Given the description of an element on the screen output the (x, y) to click on. 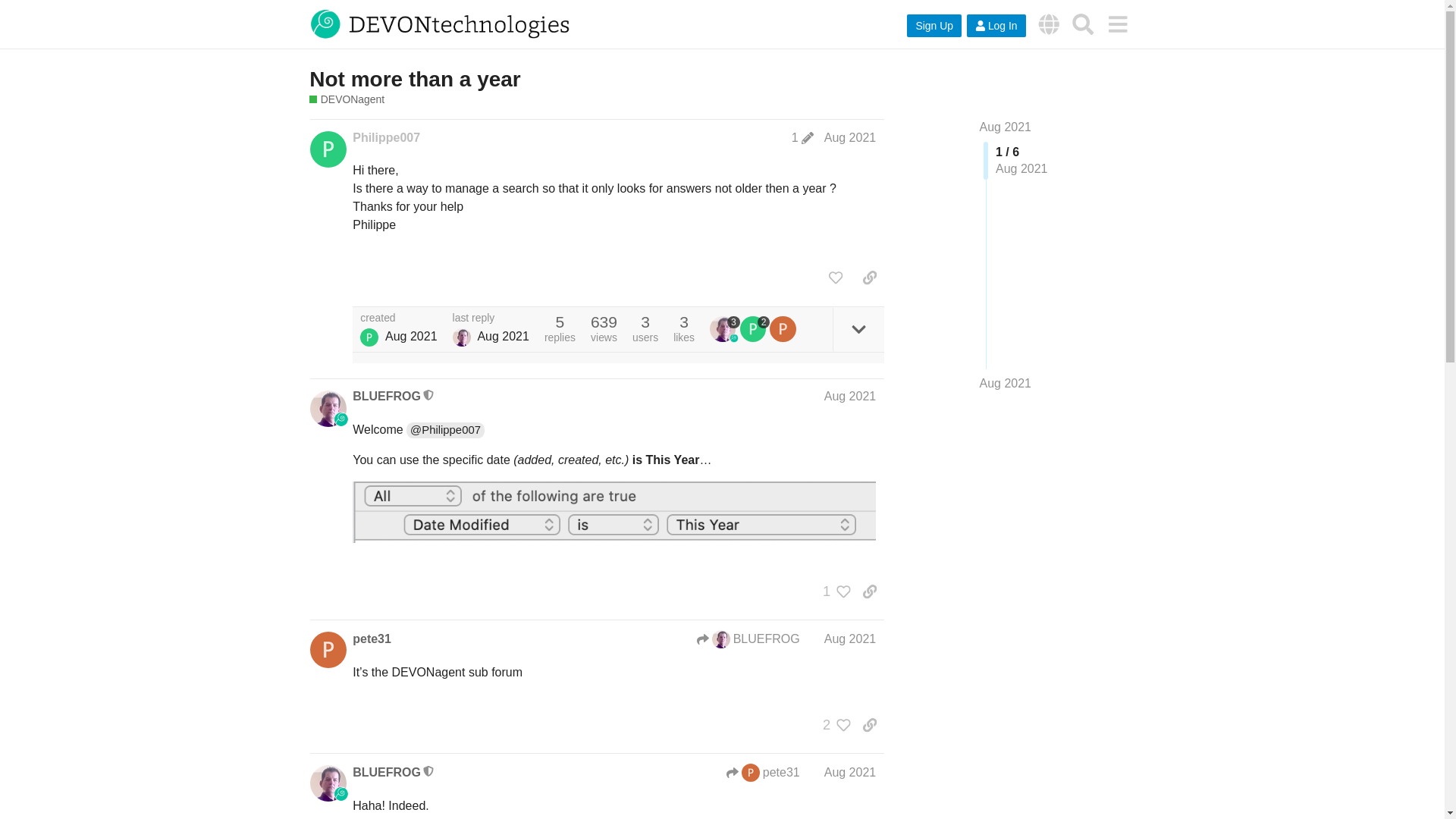
DEVONagent (346, 99)
Not more than a year (414, 78)
DEVONtechnologies (1048, 23)
BLUEFROG (748, 638)
Post date (850, 137)
BLUEFROG (386, 396)
Aug 2021 (850, 638)
Aug 2021 (850, 395)
2 (754, 329)
expand topic details (857, 329)
post last edited on Aug 29, 2021 2:08 am (802, 137)
last reply (490, 317)
Log In (996, 25)
pete31 (371, 638)
